Given the description of an element on the screen output the (x, y) to click on. 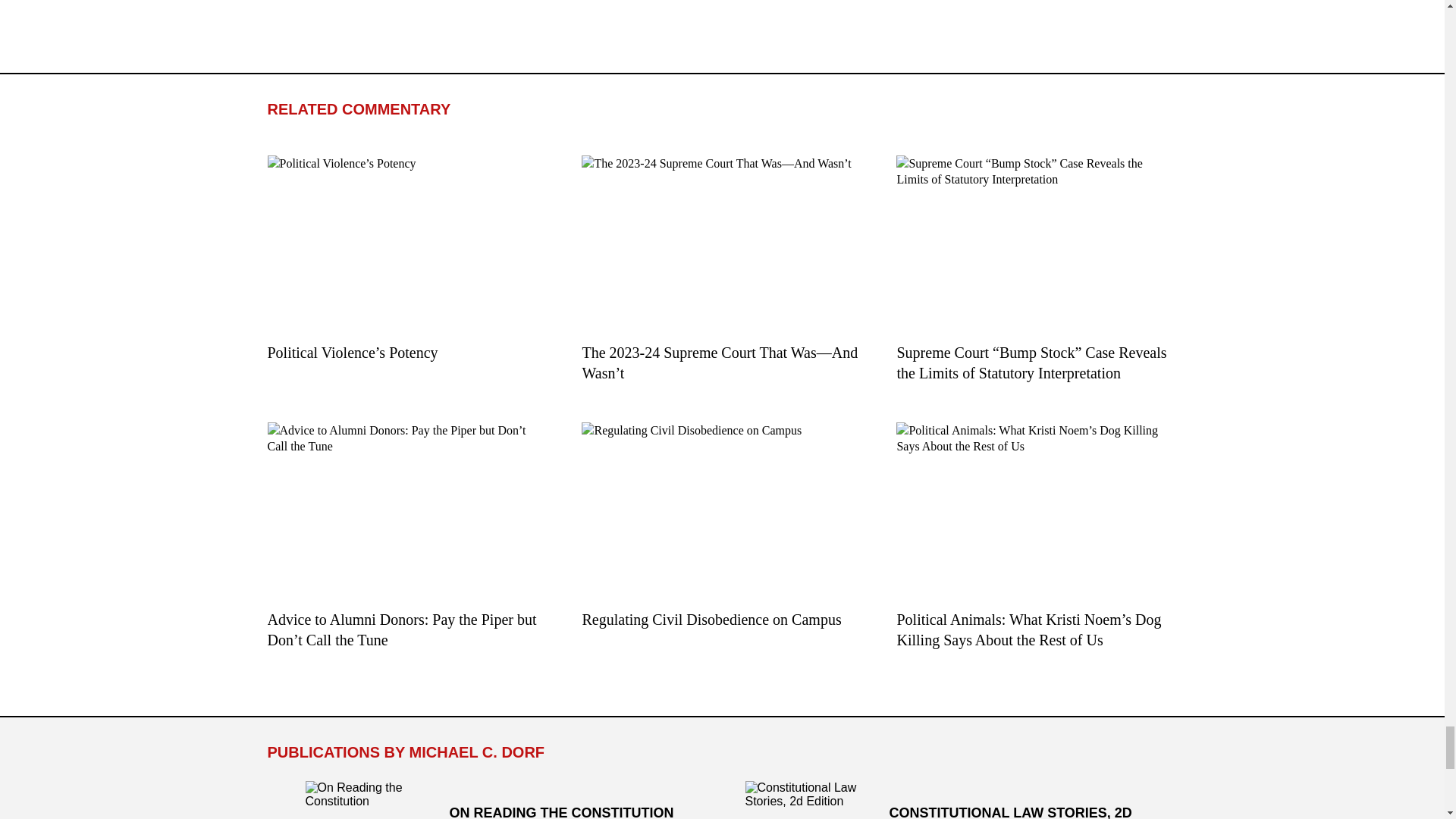
On Reading the Constitution (365, 800)
Constitutional Law Stories, 2d Edition (941, 800)
Constitutional Law Stories, 2d Edition (805, 800)
On Reading the Constitution (501, 800)
